Given the description of an element on the screen output the (x, y) to click on. 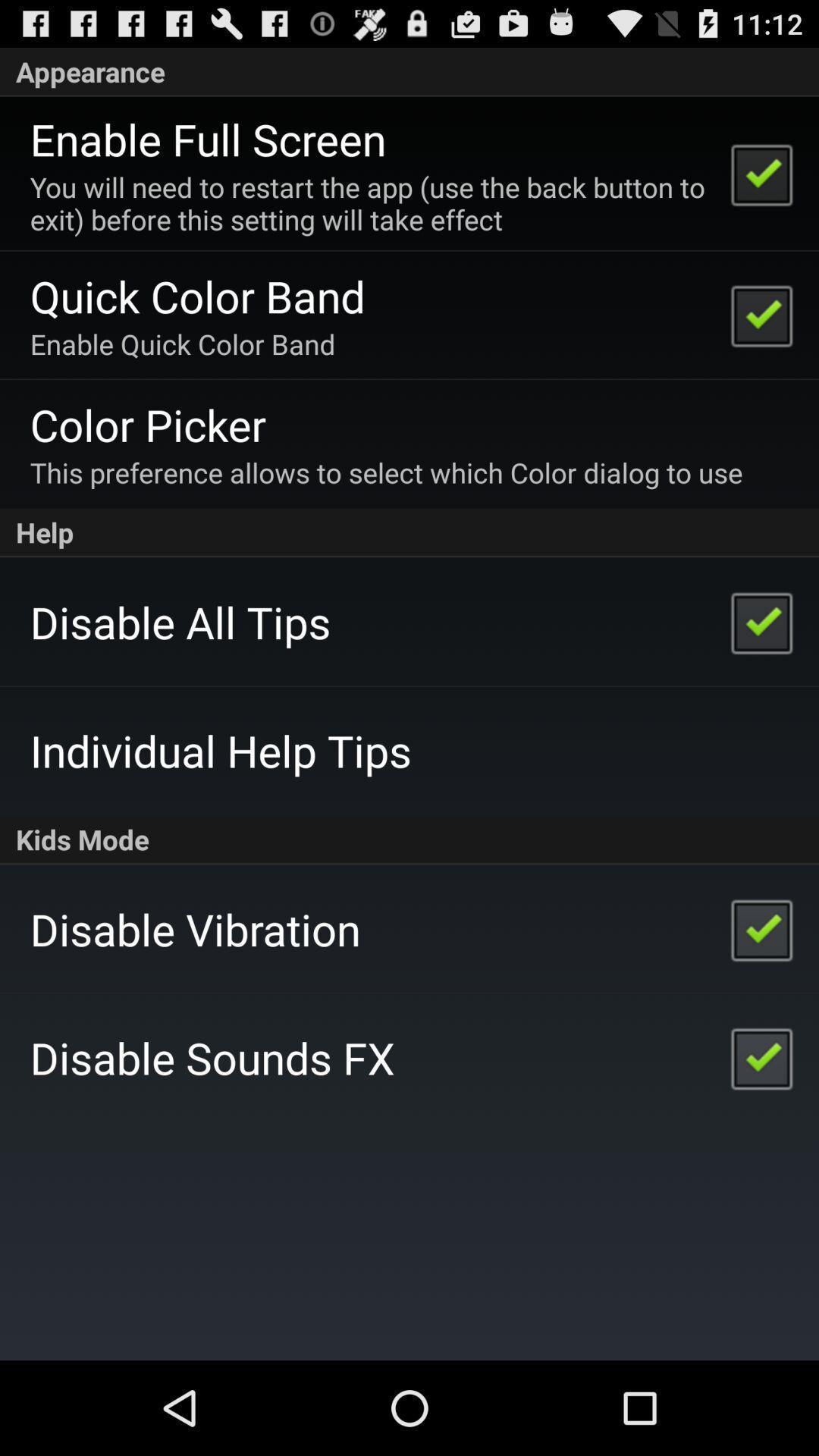
tap the disable sounds fx app (212, 1057)
